Given the description of an element on the screen output the (x, y) to click on. 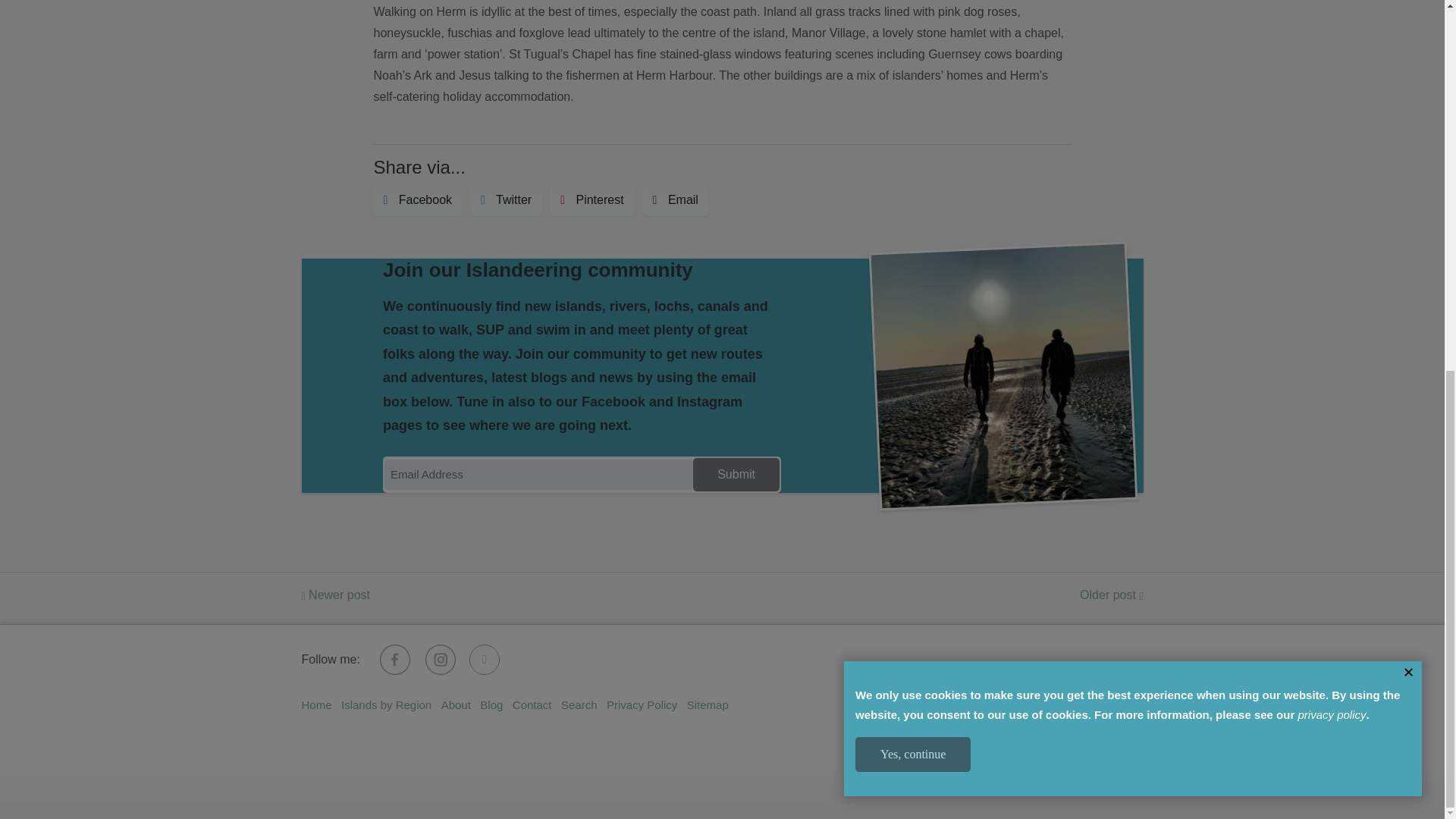
Newer post (336, 594)
Pinterest (591, 200)
Islands by Region (385, 704)
Blog (491, 704)
Facebook (416, 200)
Twitter (505, 200)
Submit (735, 474)
Email (675, 200)
Giant Peach (1111, 723)
Search (578, 704)
Sitemap (708, 704)
privacy policy (1331, 41)
Yes, continue (913, 80)
About (455, 704)
Older post (1111, 594)
